Given the description of an element on the screen output the (x, y) to click on. 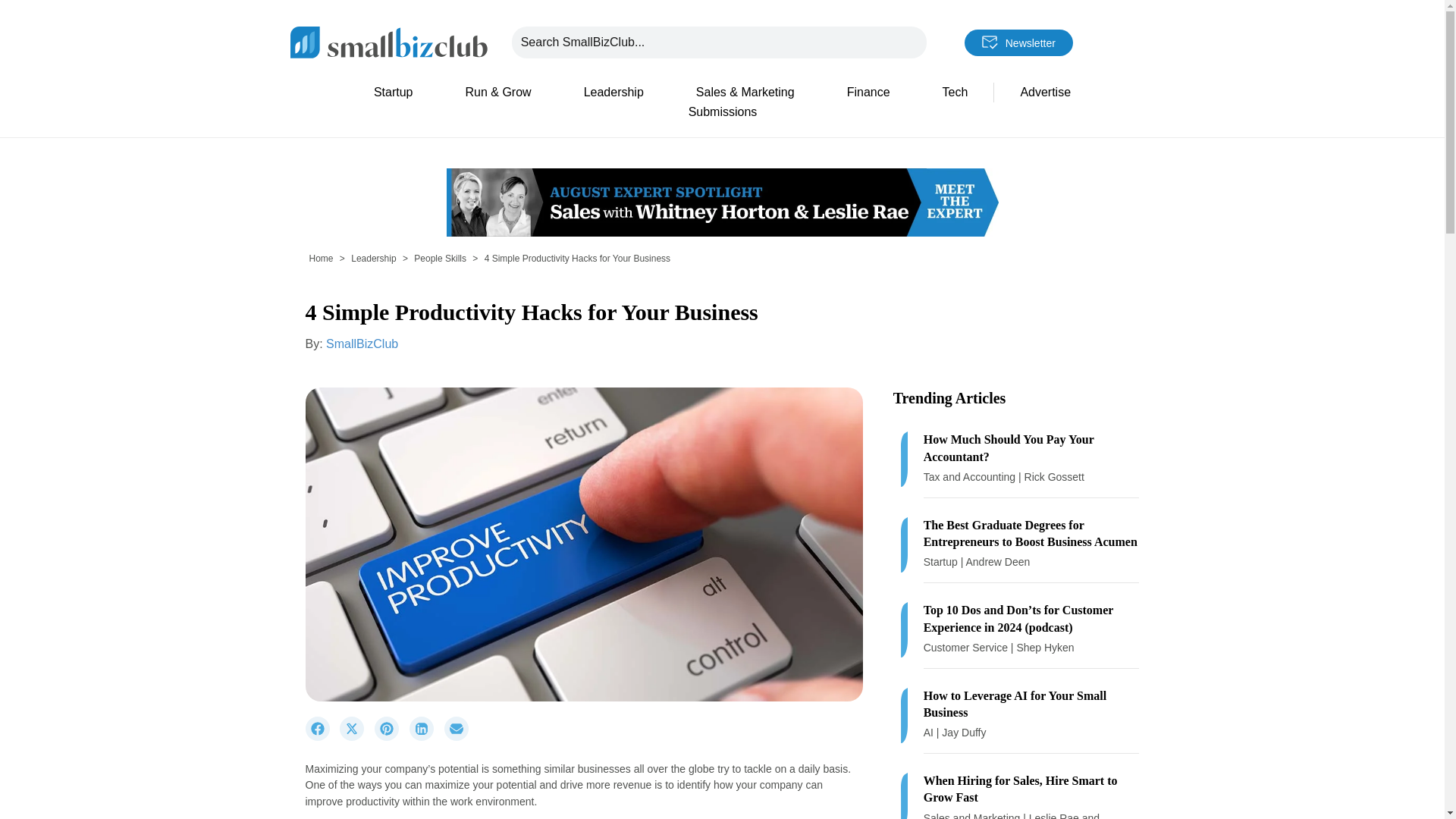
small-biz-club-aug-long (721, 202)
SmallBizClub (361, 343)
Submissions (722, 112)
Share on Pinterest (391, 736)
Startup (393, 92)
Leadership (613, 92)
Leadership (373, 258)
SmallBizClub-Primary-Logo-2023 (387, 41)
Share on LinkedIn (426, 736)
People Skills (439, 258)
